Given the description of an element on the screen output the (x, y) to click on. 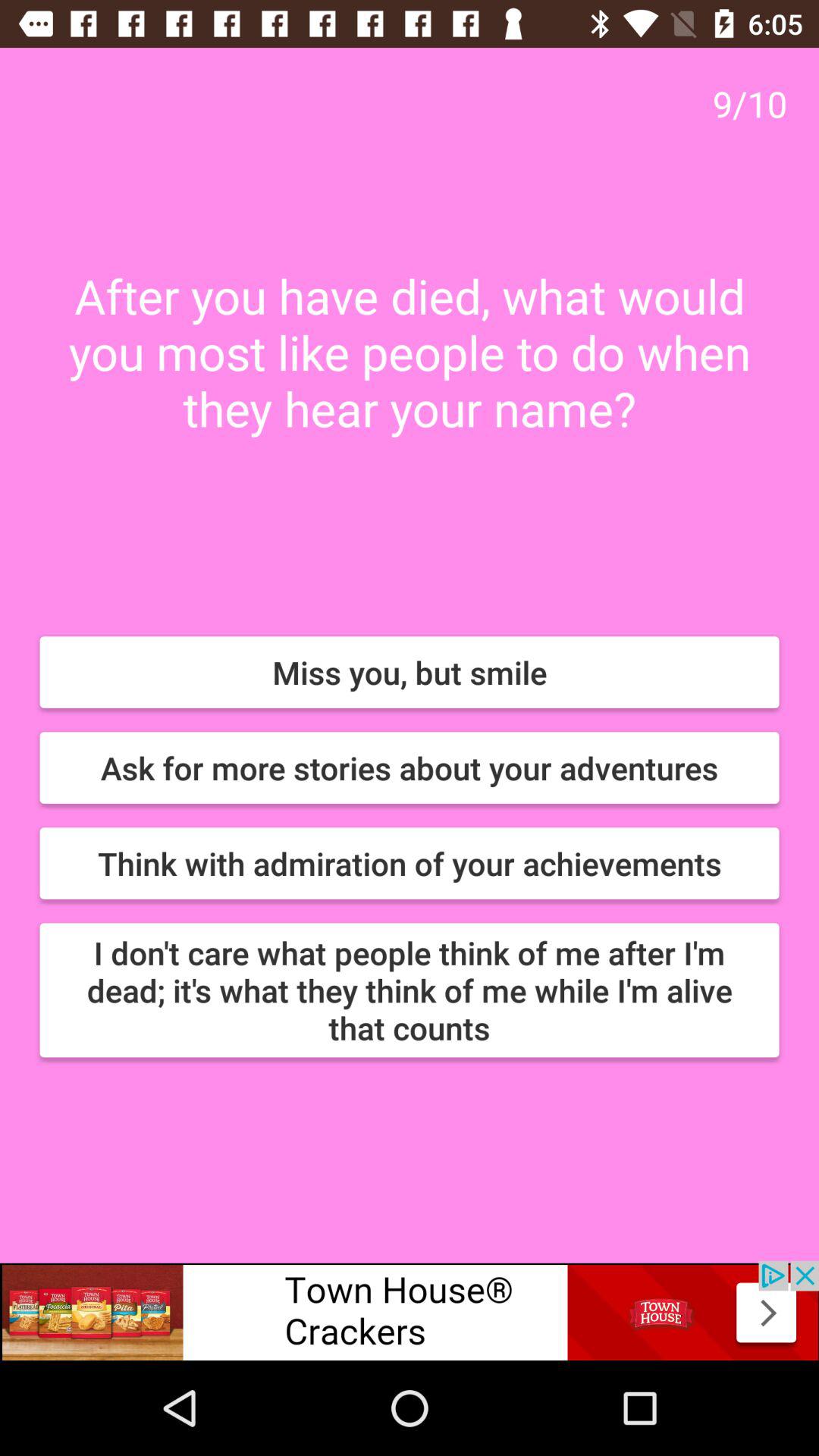
connect to website (409, 1310)
